Given the description of an element on the screen output the (x, y) to click on. 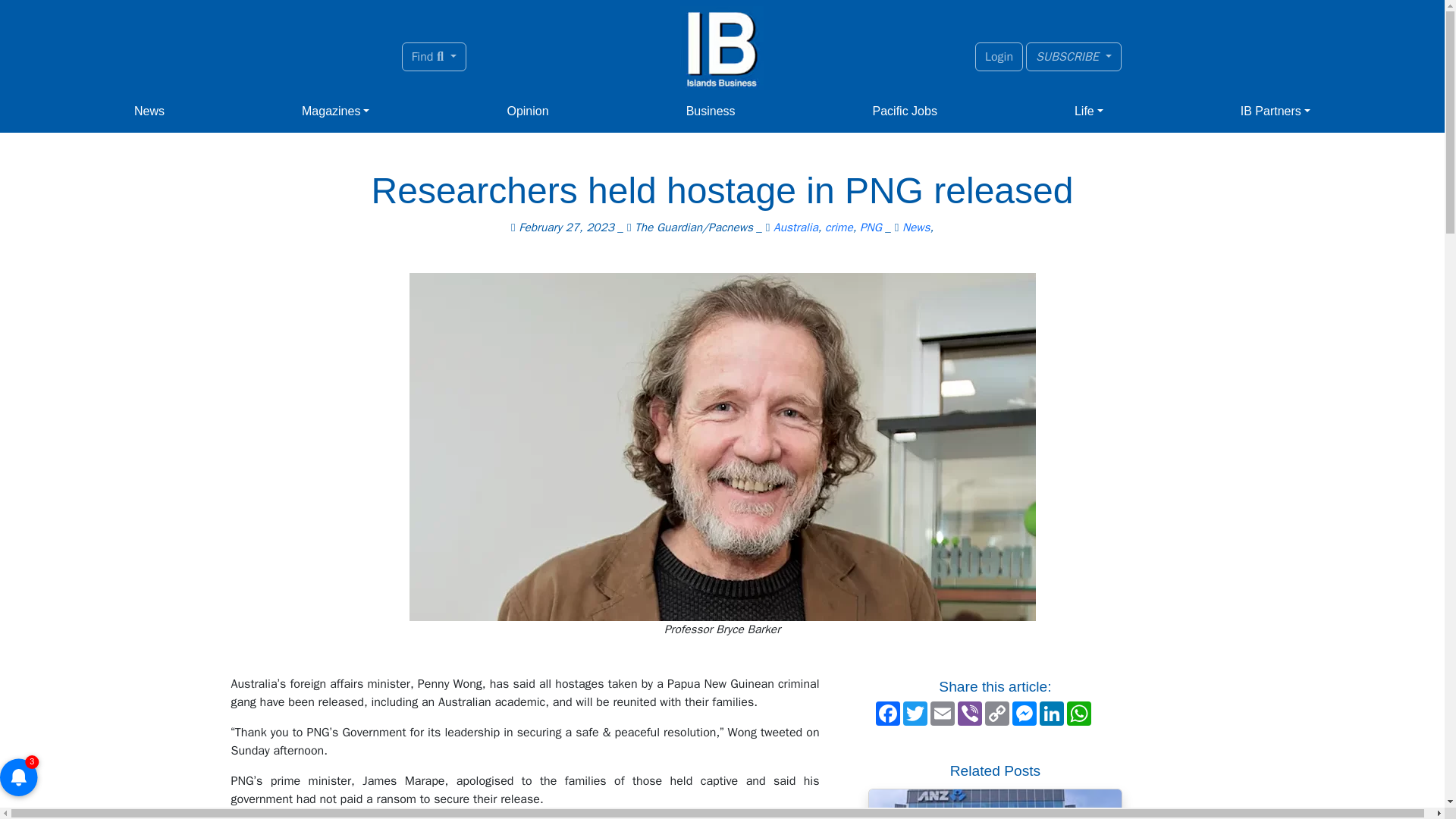
News (149, 111)
Login (999, 56)
Opinion (527, 111)
IB Partners (1275, 111)
Login (999, 56)
Business (710, 111)
SUBSCRIBE (1073, 56)
Find (433, 56)
Magazines (335, 111)
Pacific Jobs (904, 111)
Life (1088, 111)
